Given the description of an element on the screen output the (x, y) to click on. 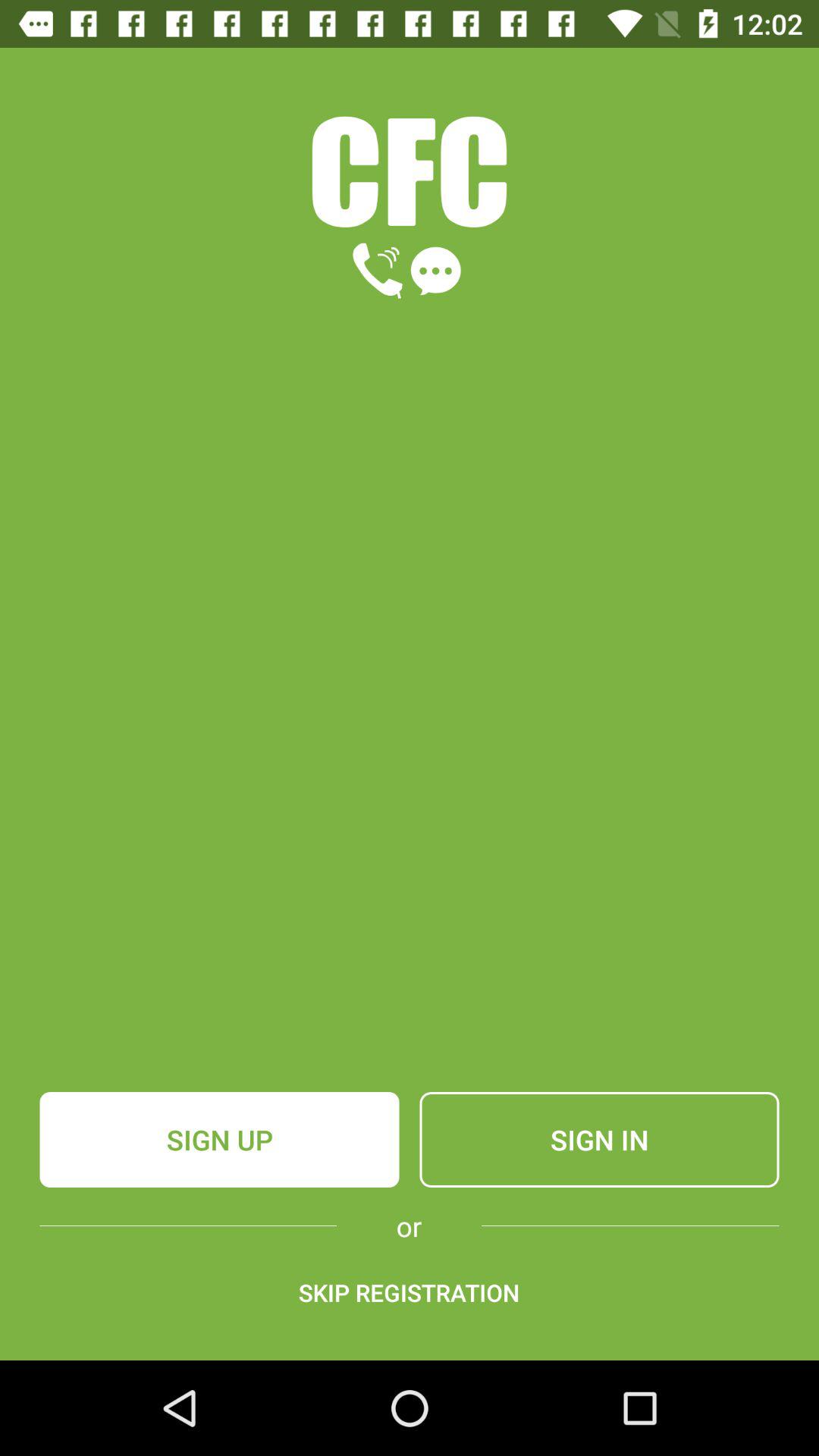
select the sign in (599, 1139)
